Given the description of an element on the screen output the (x, y) to click on. 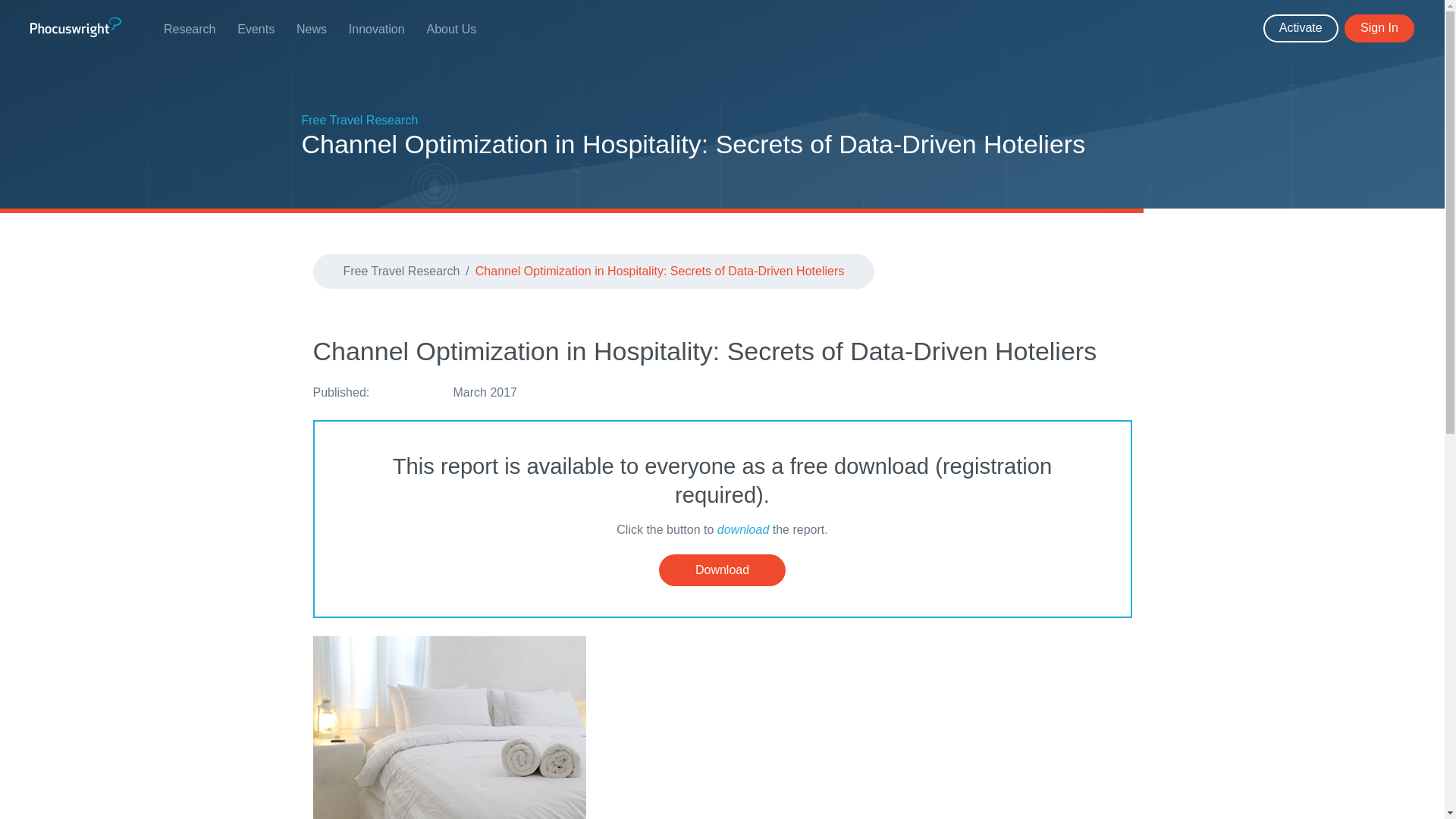
About Us (461, 29)
Events (267, 29)
Innovation (387, 29)
Research (200, 29)
Research (200, 29)
